Given the description of an element on the screen output the (x, y) to click on. 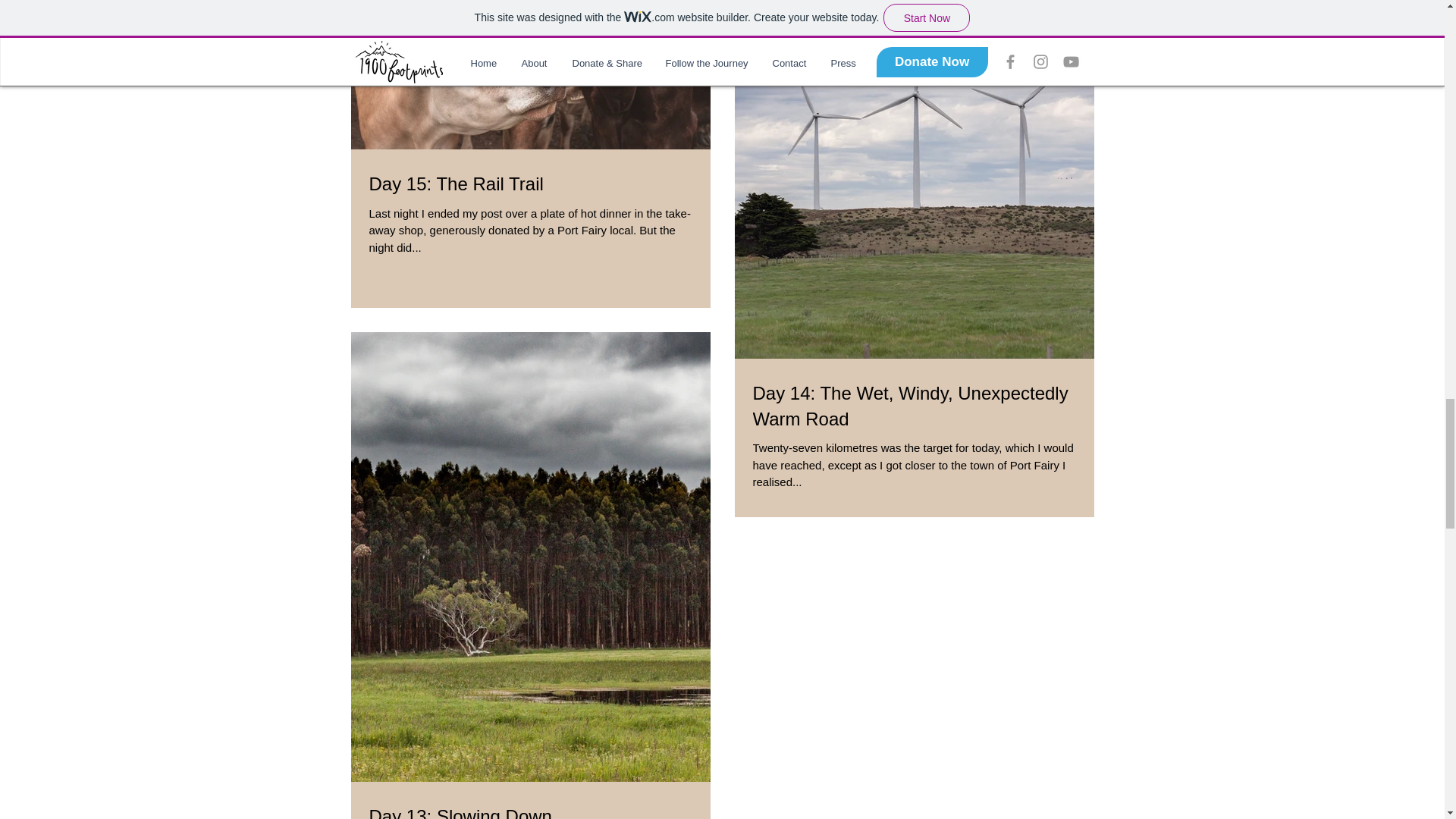
Day 13: Slowing Down (529, 811)
Day 14: The Wet, Windy, Unexpectedly Warm Road (913, 405)
Day 15: The Rail Trail (529, 184)
